Given the description of an element on the screen output the (x, y) to click on. 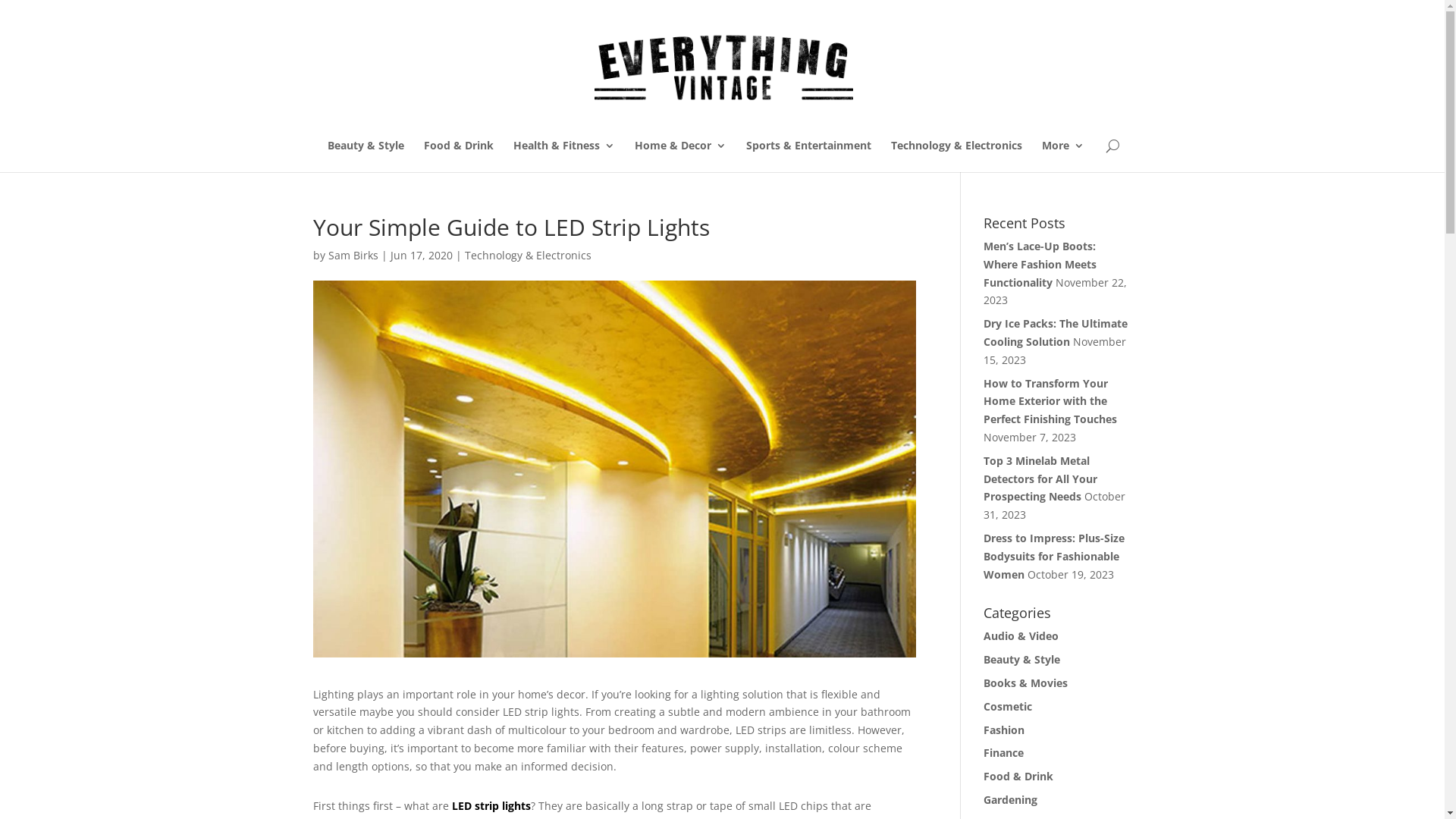
Finance Element type: text (1003, 752)
Top 3 Minelab Metal Detectors for All Your Prospecting Needs Element type: text (1040, 478)
Beauty & Style Element type: text (1021, 659)
Food & Drink Element type: text (457, 156)
Technology & Electronics Element type: text (955, 156)
More Element type: text (1062, 156)
Dry Ice Packs: The Ultimate Cooling Solution Element type: text (1055, 332)
Sports & Entertainment Element type: text (808, 156)
Cosmetic Element type: text (1007, 706)
Health & Fitness Element type: text (563, 156)
Audio & Video Element type: text (1020, 635)
Gardening Element type: text (1010, 799)
Beauty & Style Element type: text (365, 156)
Dress to Impress: Plus-Size Bodysuits for Fashionable Women Element type: text (1053, 555)
Food & Drink Element type: text (1018, 775)
LED strip lights Element type: text (490, 805)
Home & Decor Element type: text (679, 156)
Books & Movies Element type: text (1025, 682)
Fashion Element type: text (1003, 729)
